Given the description of an element on the screen output the (x, y) to click on. 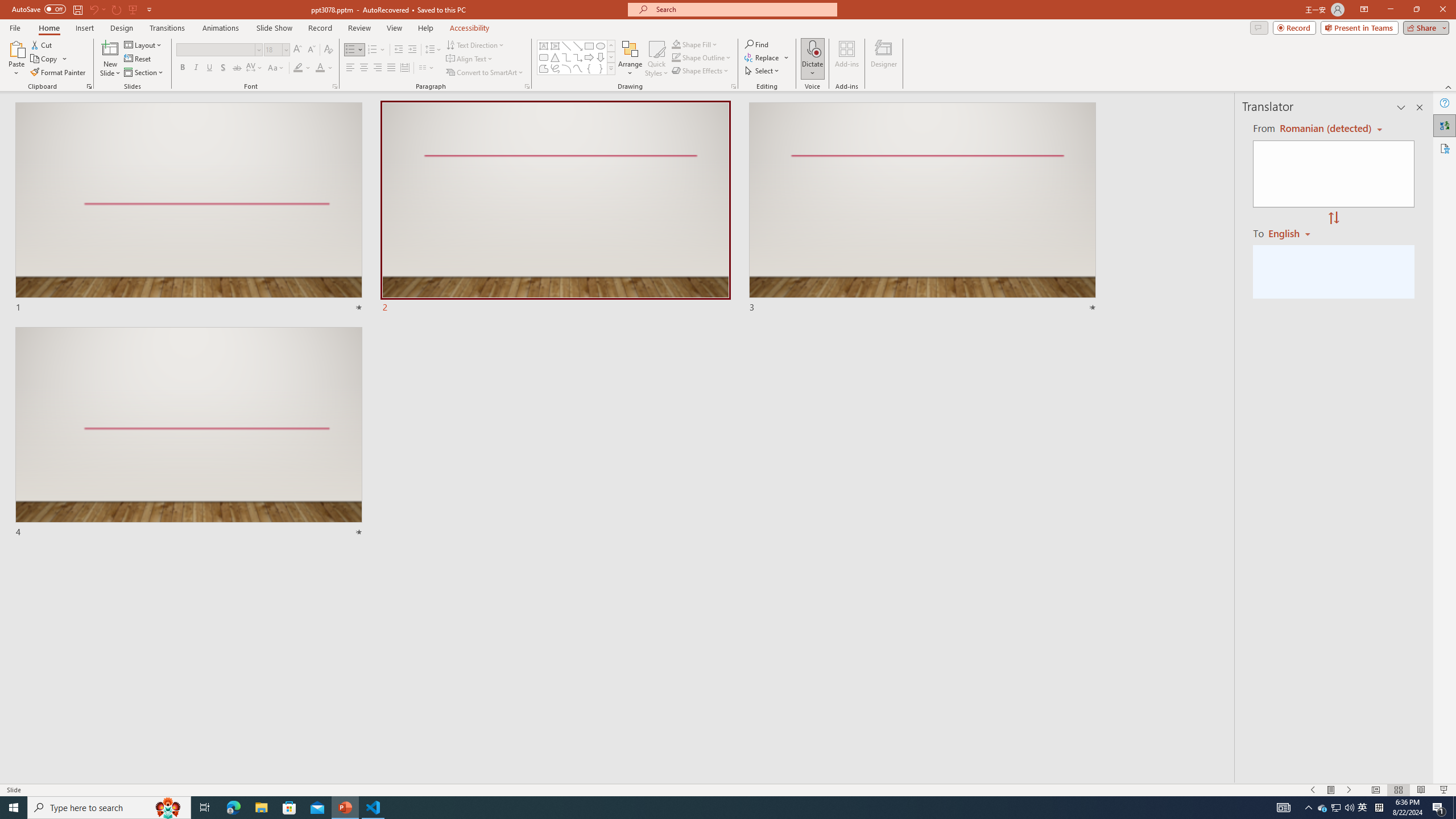
Slide Show Next On (1349, 790)
